Given the description of an element on the screen output the (x, y) to click on. 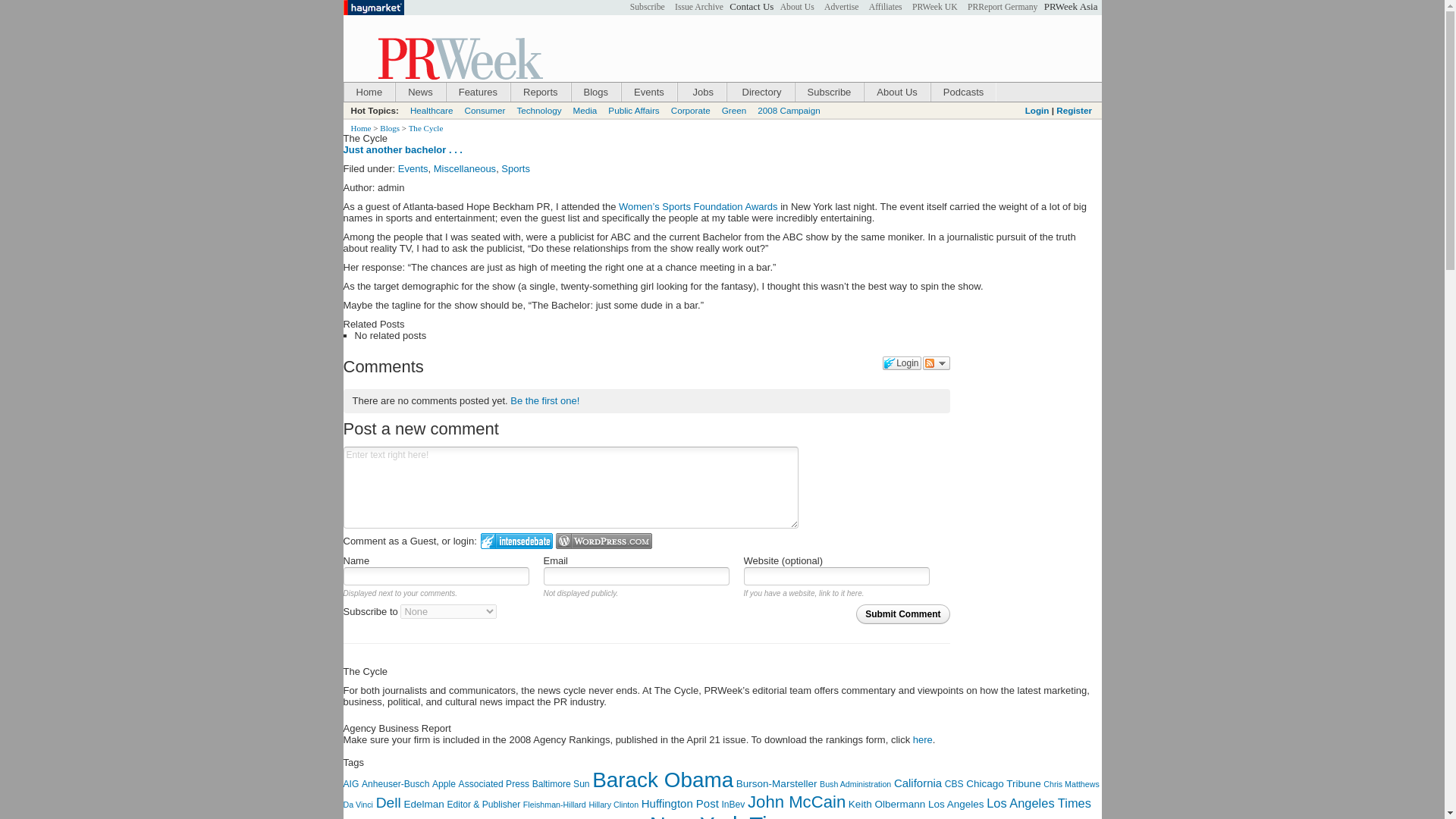
 Jobs (701, 91)
News (420, 91)
Reports (540, 91)
About Us (797, 7)
Issue Archive (698, 7)
Home (368, 91)
Affiliates (884, 7)
Events (649, 91)
PRReport Germany (1002, 7)
Blogs (596, 91)
